Given the description of an element on the screen output the (x, y) to click on. 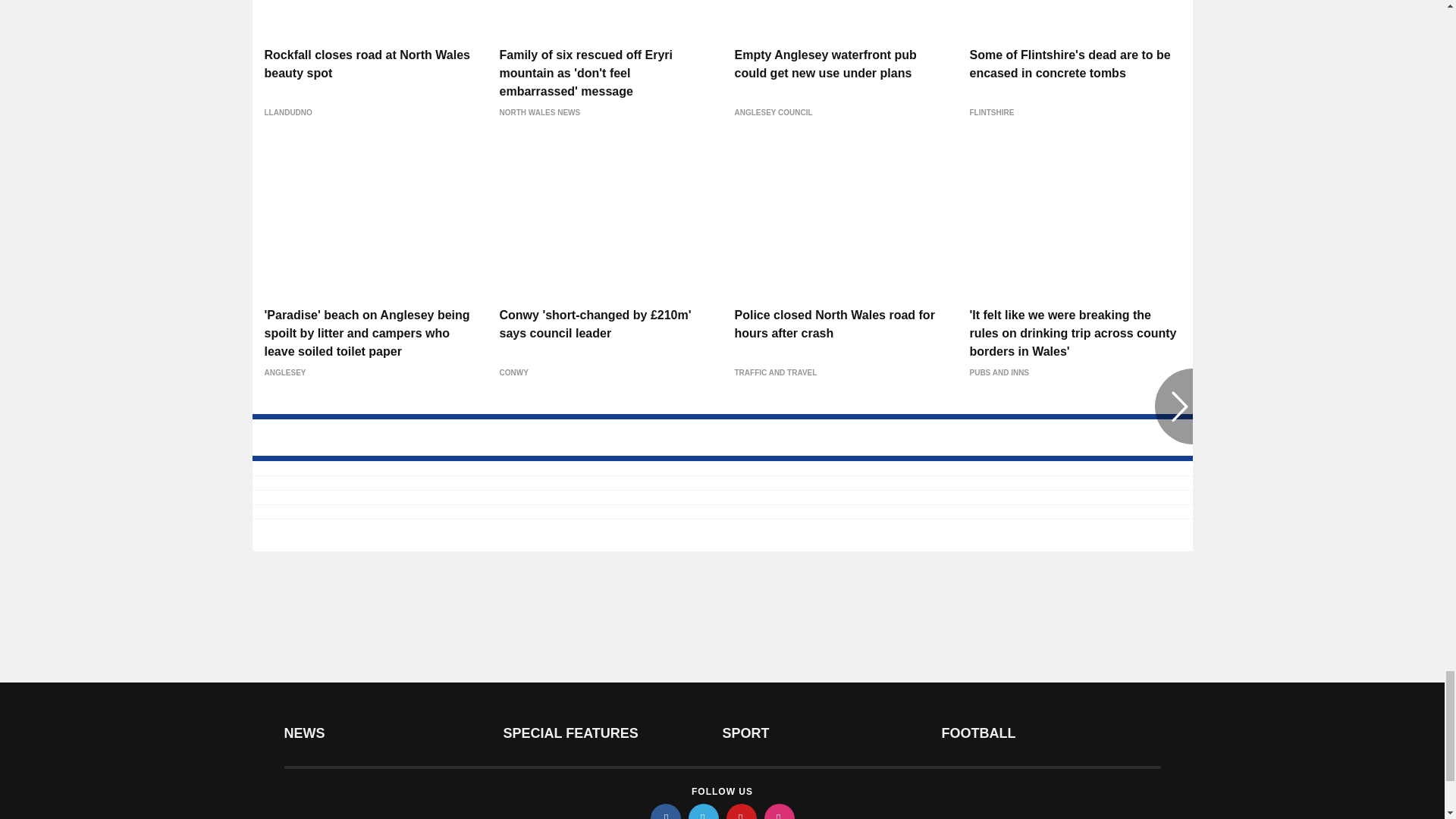
twitter (703, 811)
pinterest (741, 811)
facebook (665, 811)
instagram (779, 811)
